Given the description of an element on the screen output the (x, y) to click on. 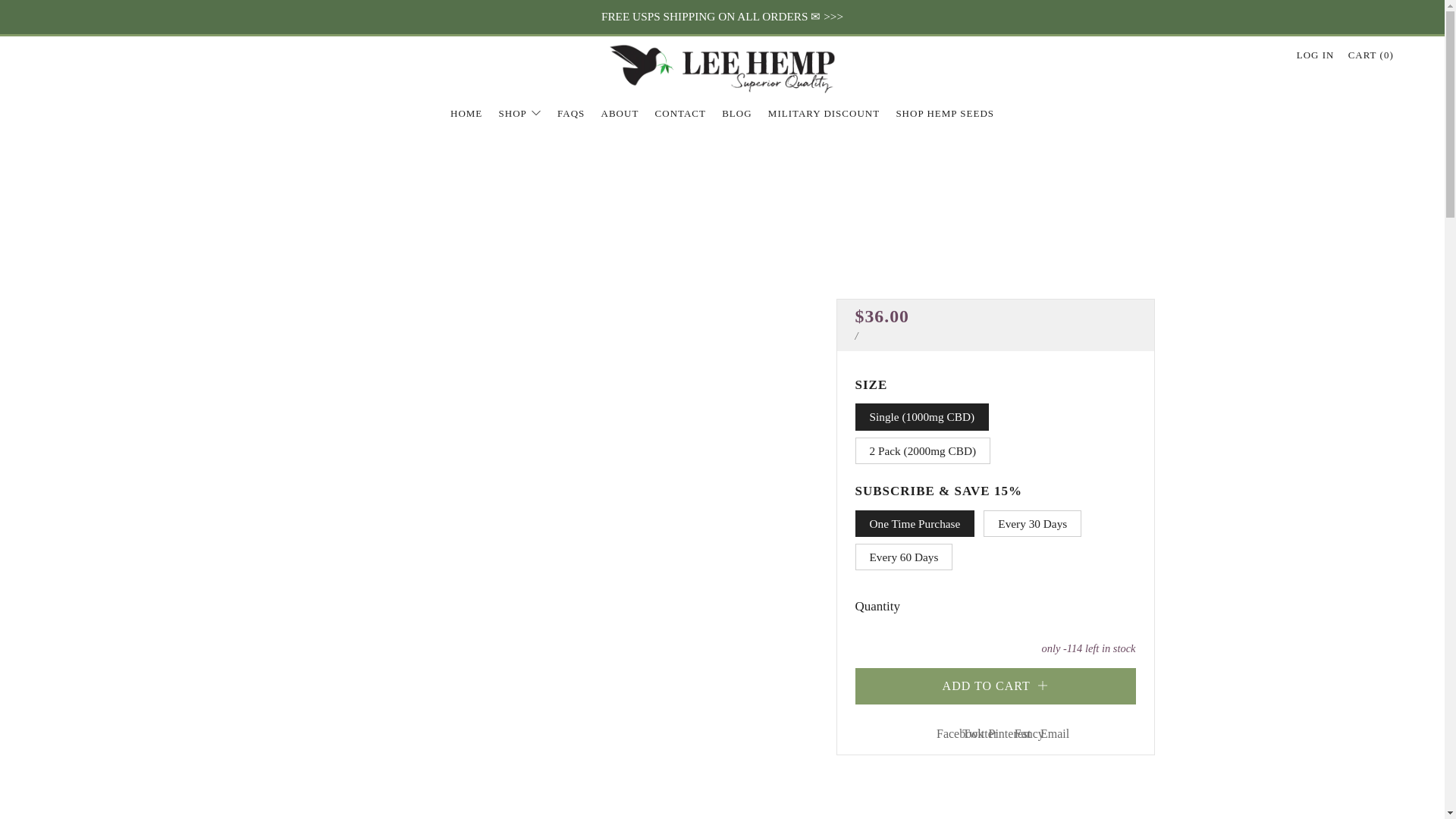
FAQS (571, 113)
SHOP (520, 113)
BLOG (736, 113)
HOME (465, 113)
CONTACT (680, 113)
ABOUT (620, 113)
